Given the description of an element on the screen output the (x, y) to click on. 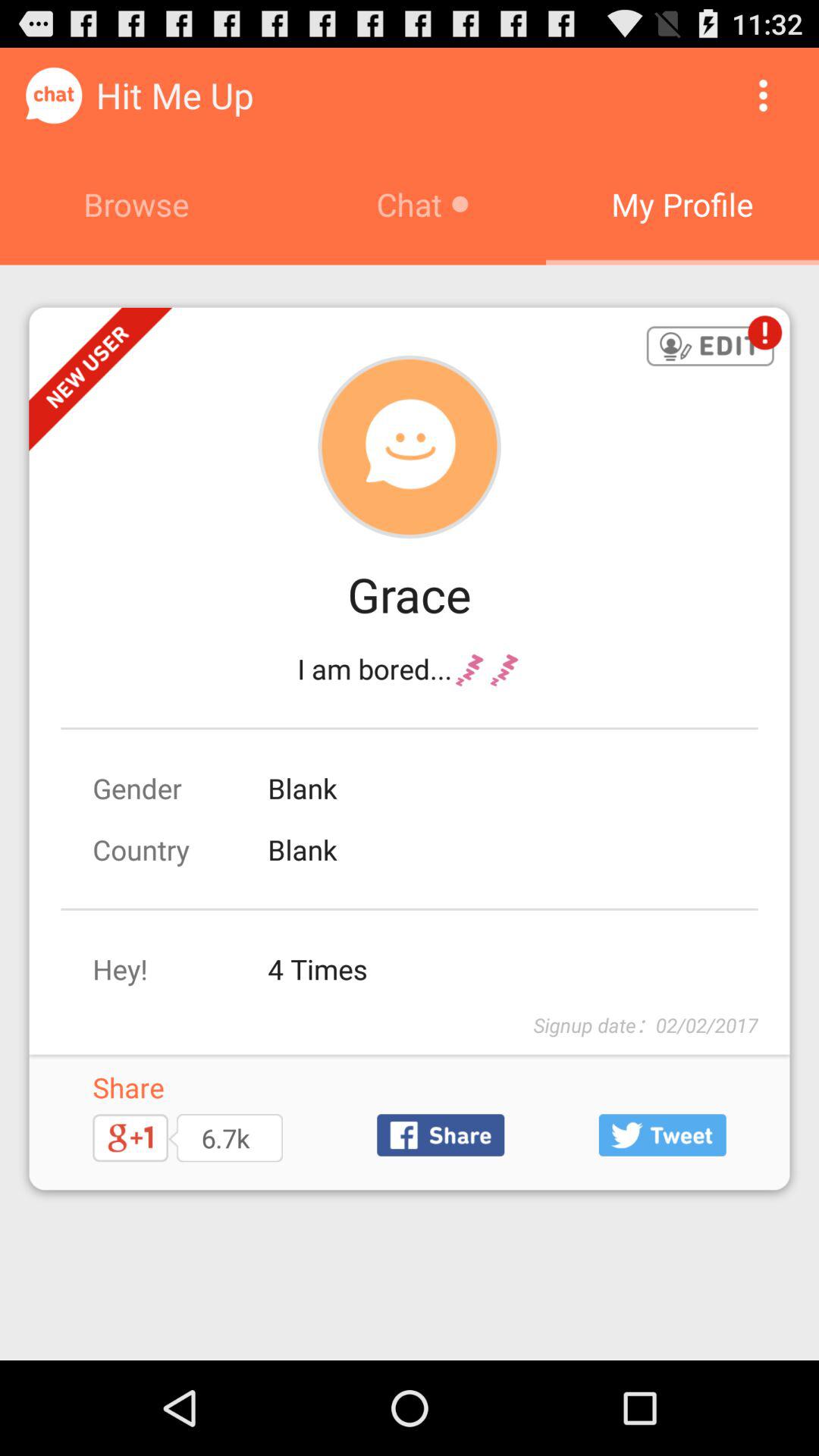
edit button (709, 347)
